Given the description of an element on the screen output the (x, y) to click on. 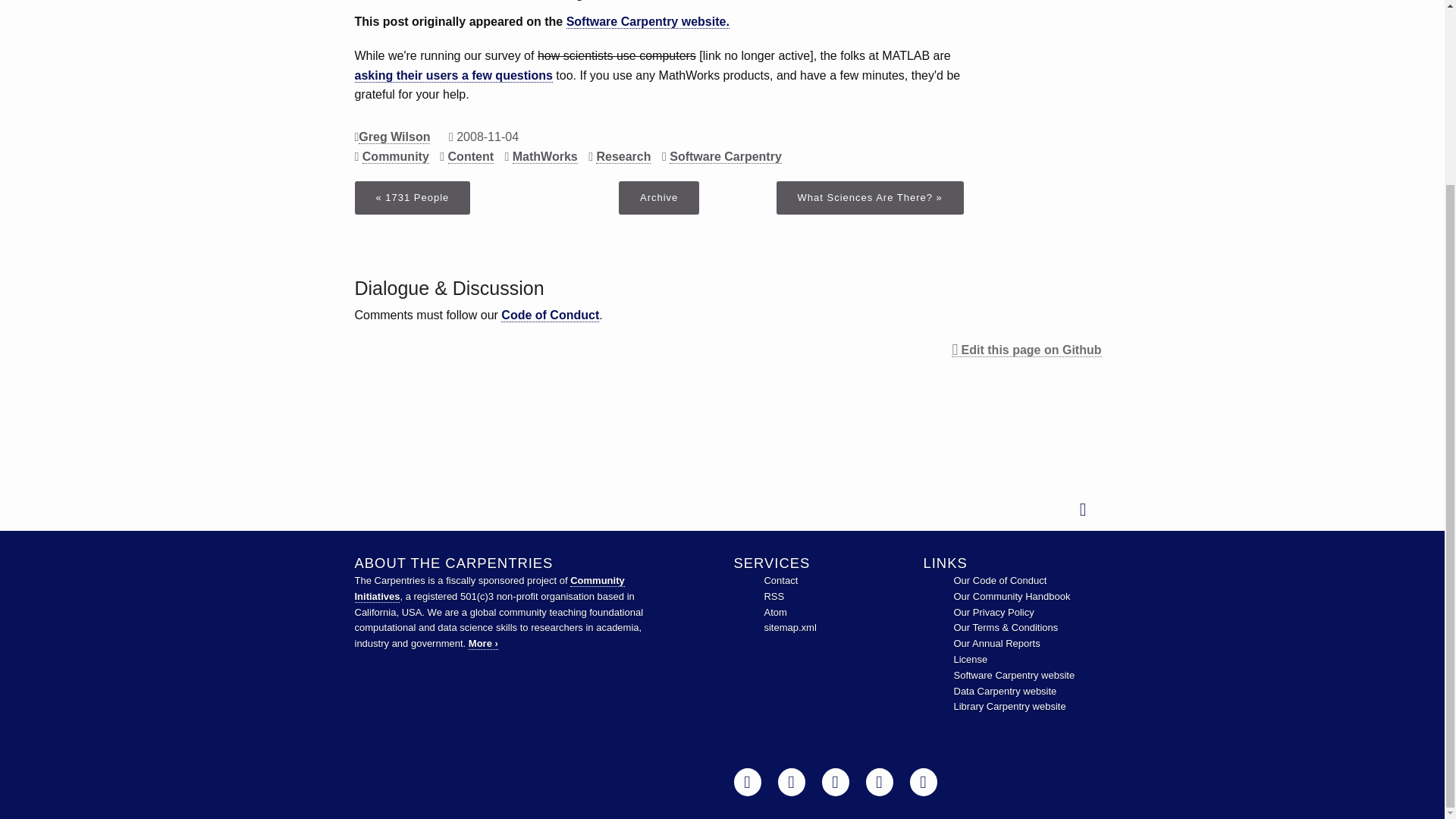
EQUITY, INCLUSION, AND ACCESSIBILITY (128, 93)
Blog Archive (658, 197)
Data Carpentry (1005, 690)
Our Reports (997, 643)
BECOME AN INSTRUCTOR (207, 18)
License (970, 659)
FOR INSTRUCTORS (207, 55)
LESSON DEVELOPMENT TRAINING (207, 130)
Sitemap for Google Webmaster Tools (788, 627)
Software Carpentry (1014, 674)
